Given the description of an element on the screen output the (x, y) to click on. 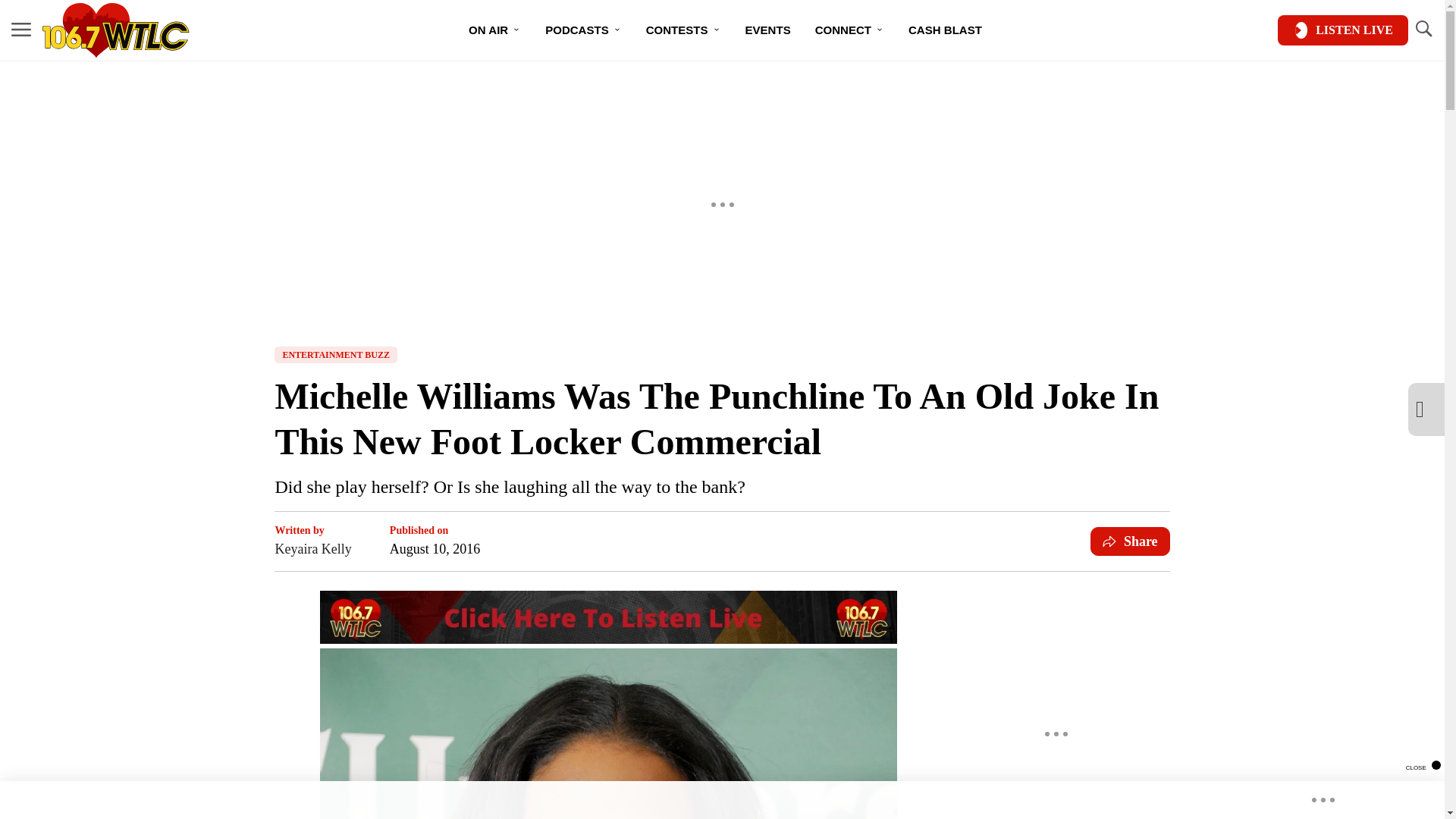
MENU (20, 29)
Keyaira Kelly (312, 548)
TOGGLE SEARCH (1422, 28)
MENU (20, 30)
PODCASTS (582, 30)
CASH BLAST (945, 30)
CONNECT (849, 30)
ON AIR (494, 30)
ENTERTAINMENT BUZZ (336, 354)
TOGGLE SEARCH (1422, 30)
